Given the description of an element on the screen output the (x, y) to click on. 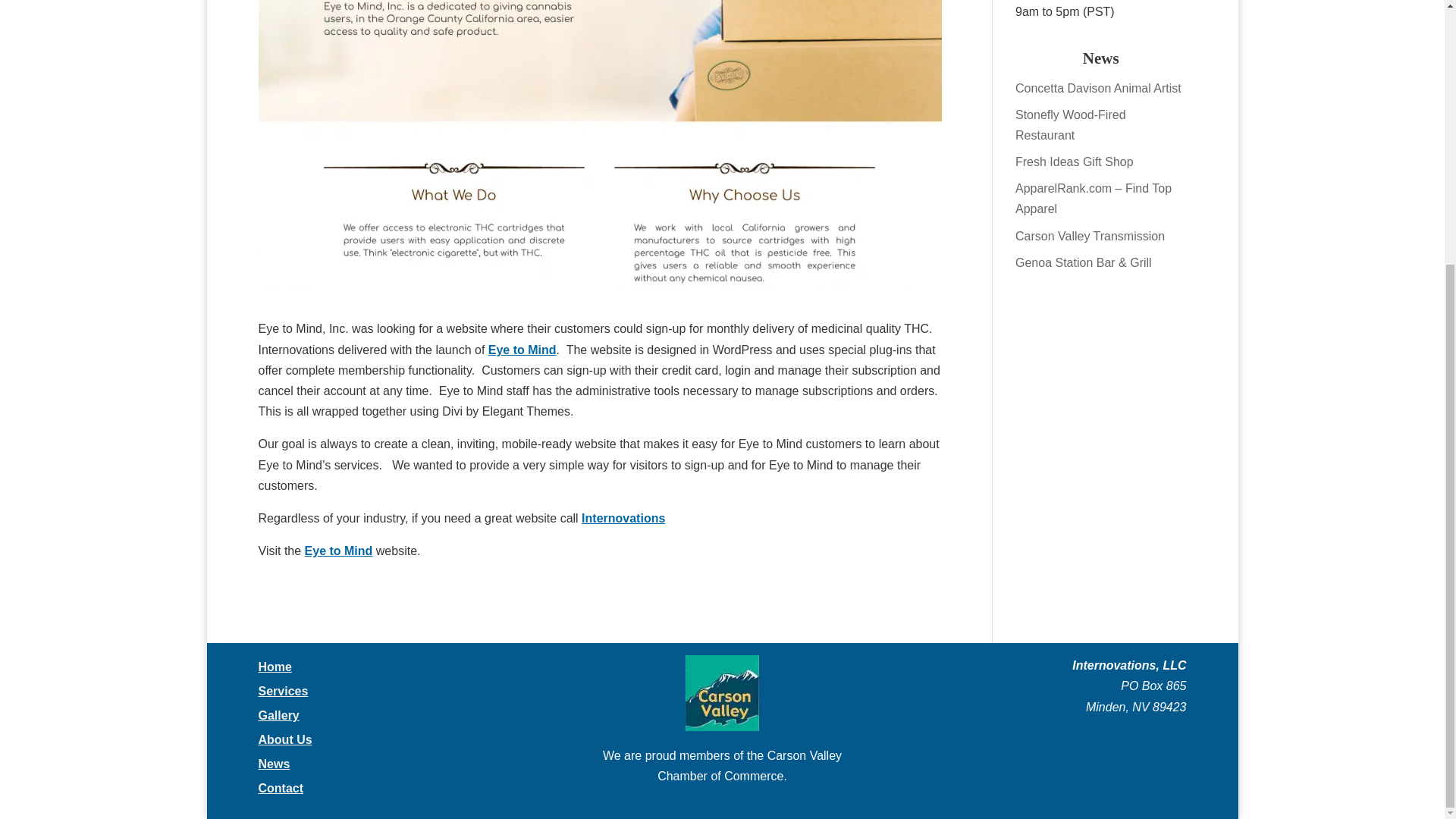
Carson Valley Chamber of Commerce (721, 693)
